Given the description of an element on the screen output the (x, y) to click on. 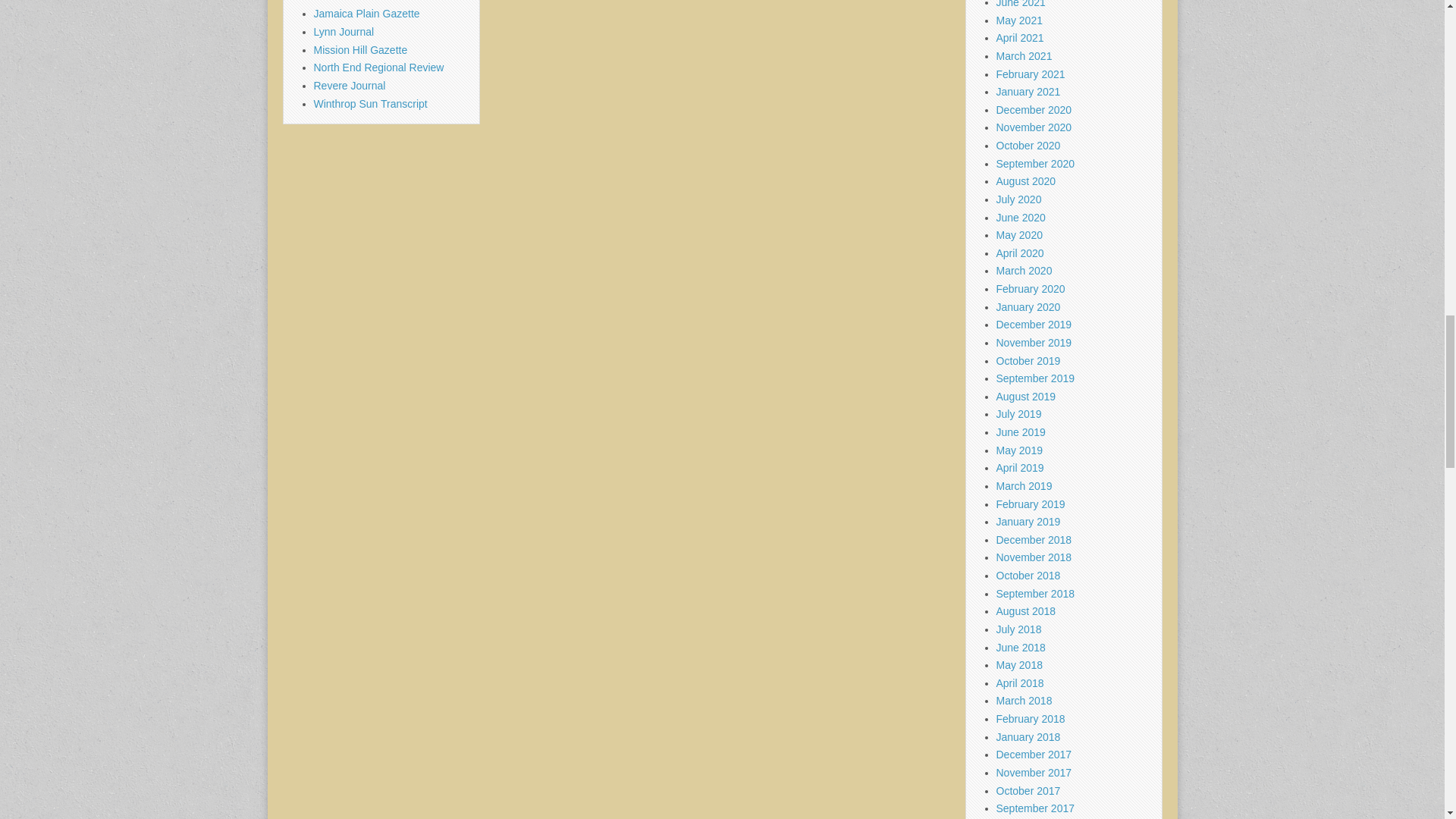
Jamaica Plain Gazette (367, 13)
East Boston Times Free Press (385, 1)
Lynn Journal (344, 31)
